Given the description of an element on the screen output the (x, y) to click on. 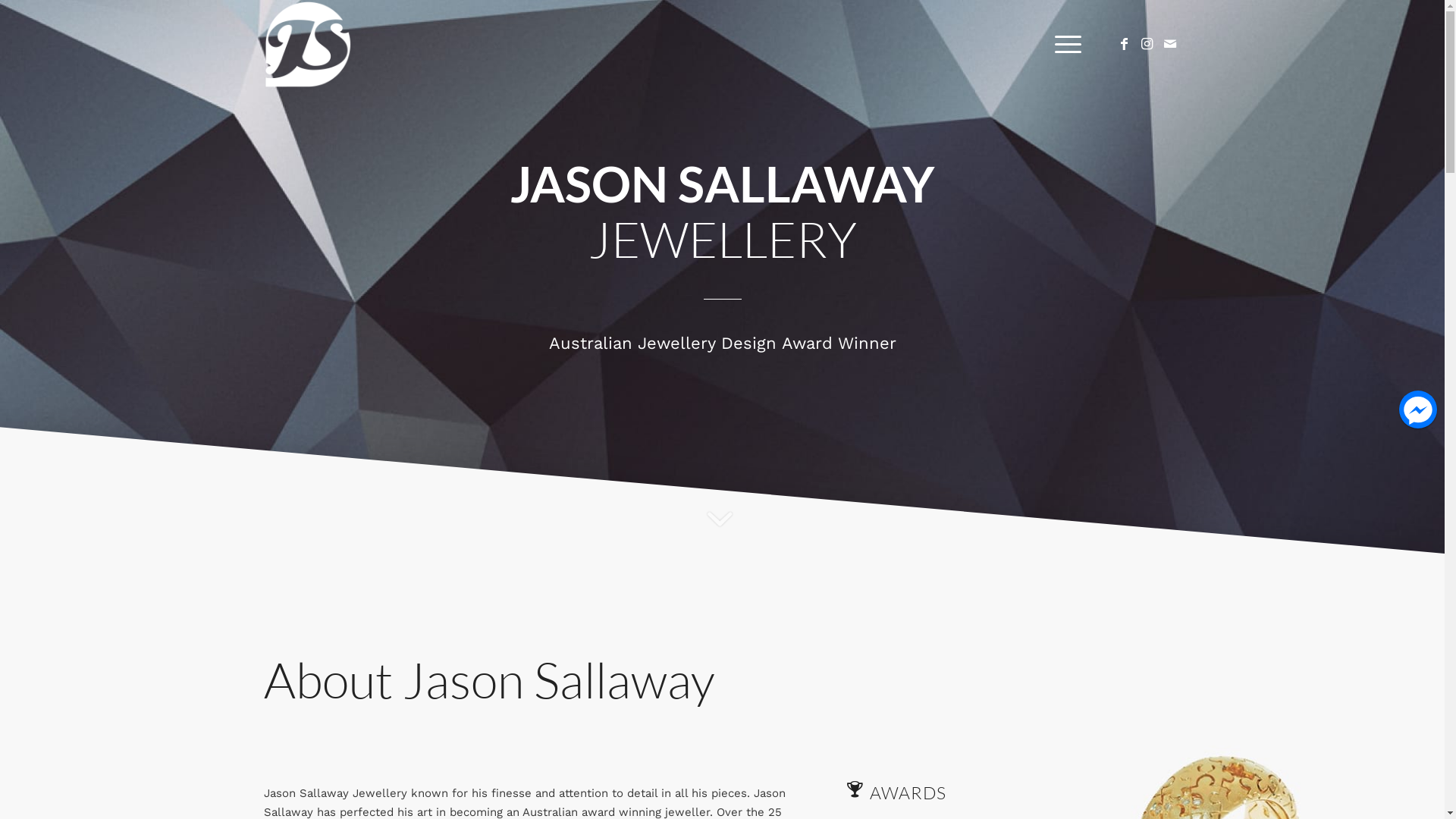
Facebook Element type: hover (1124, 43)
Mail Element type: hover (1169, 43)
JS_LogosWHT Element type: hover (307, 44)
Instagram Element type: hover (1146, 43)
